Given the description of an element on the screen output the (x, y) to click on. 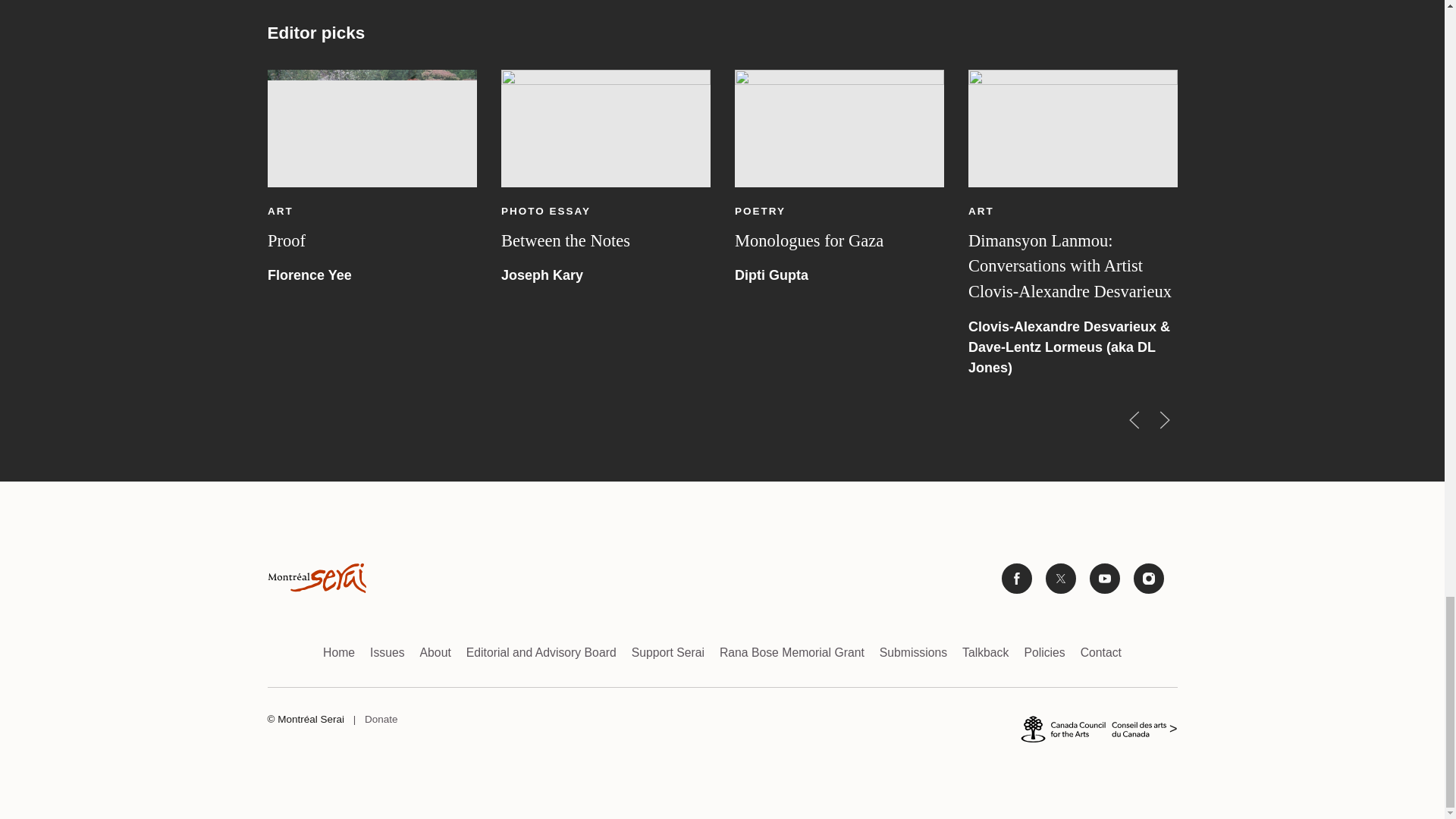
ART (1214, 210)
Immersed in the materiality (1295, 239)
Poetry (758, 210)
Joseph Kary (541, 274)
Monologues for Gaza (807, 239)
Monologues for Gaza (838, 128)
ART (980, 210)
ART (279, 210)
Florence Yee (308, 274)
Dipti Gupta (770, 274)
